Given the description of an element on the screen output the (x, y) to click on. 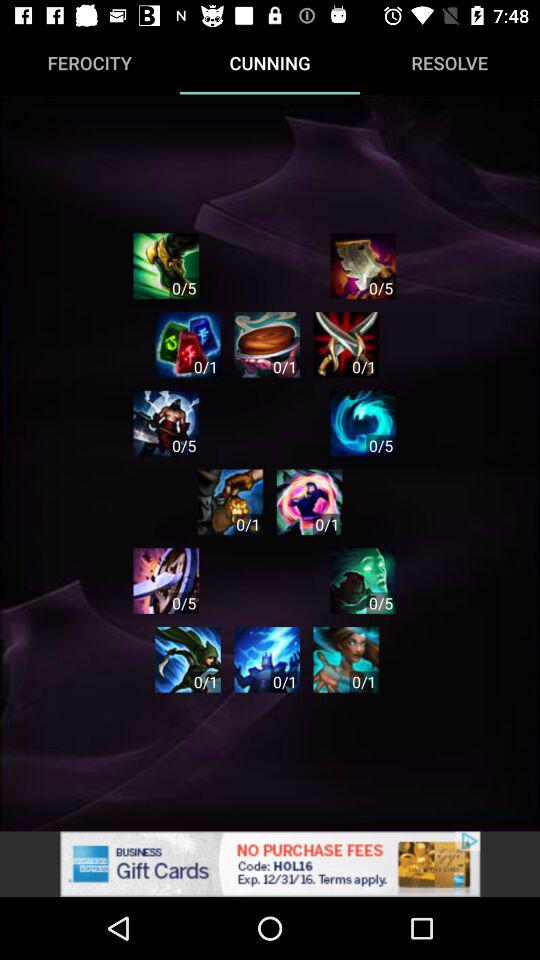
play the next level game (230, 502)
